Given the description of an element on the screen output the (x, y) to click on. 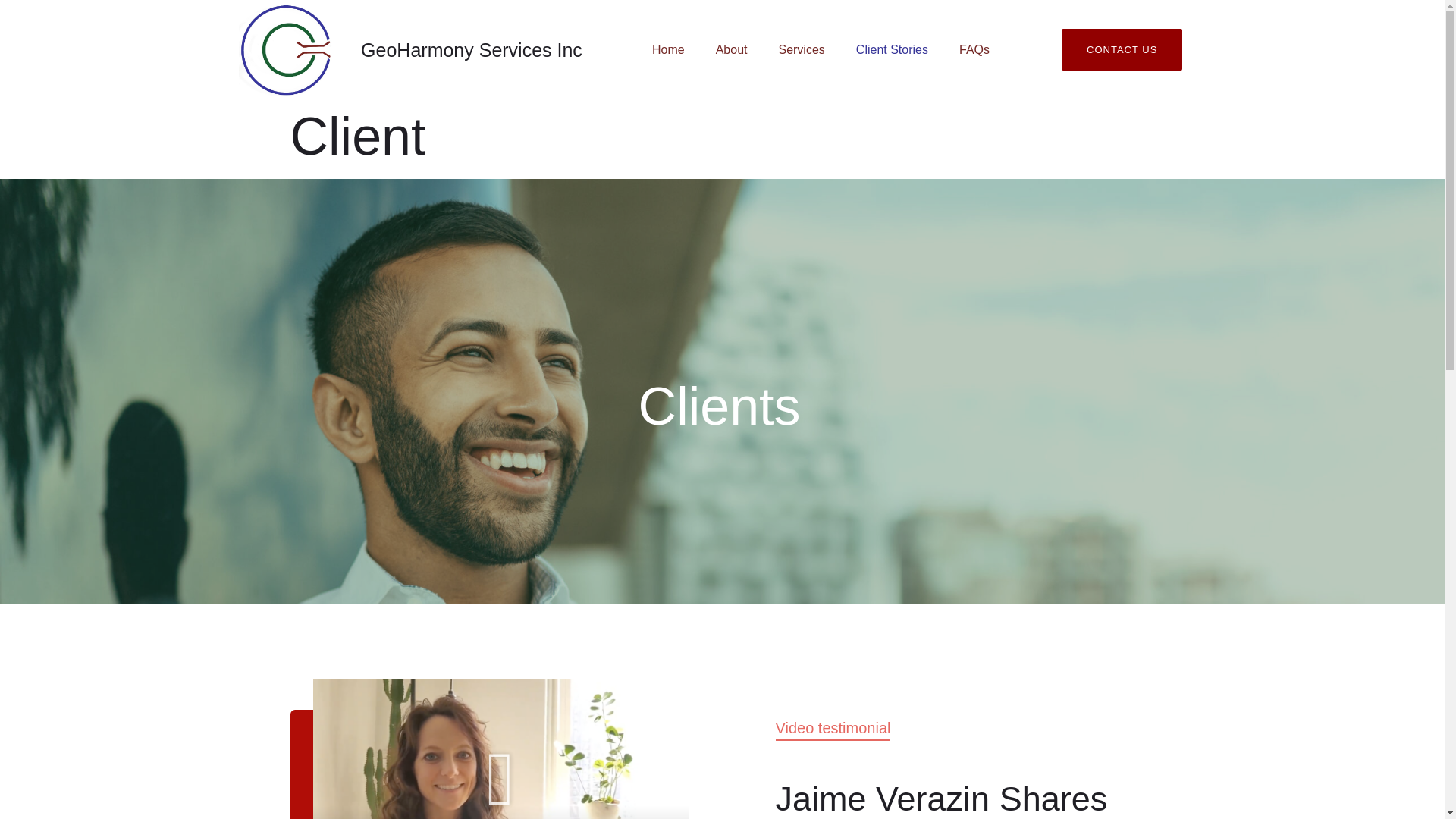
Services (801, 49)
CONTACT US (1121, 49)
GeoHarmony Services Inc (471, 49)
Client Stories (891, 49)
